Given the description of an element on the screen output the (x, y) to click on. 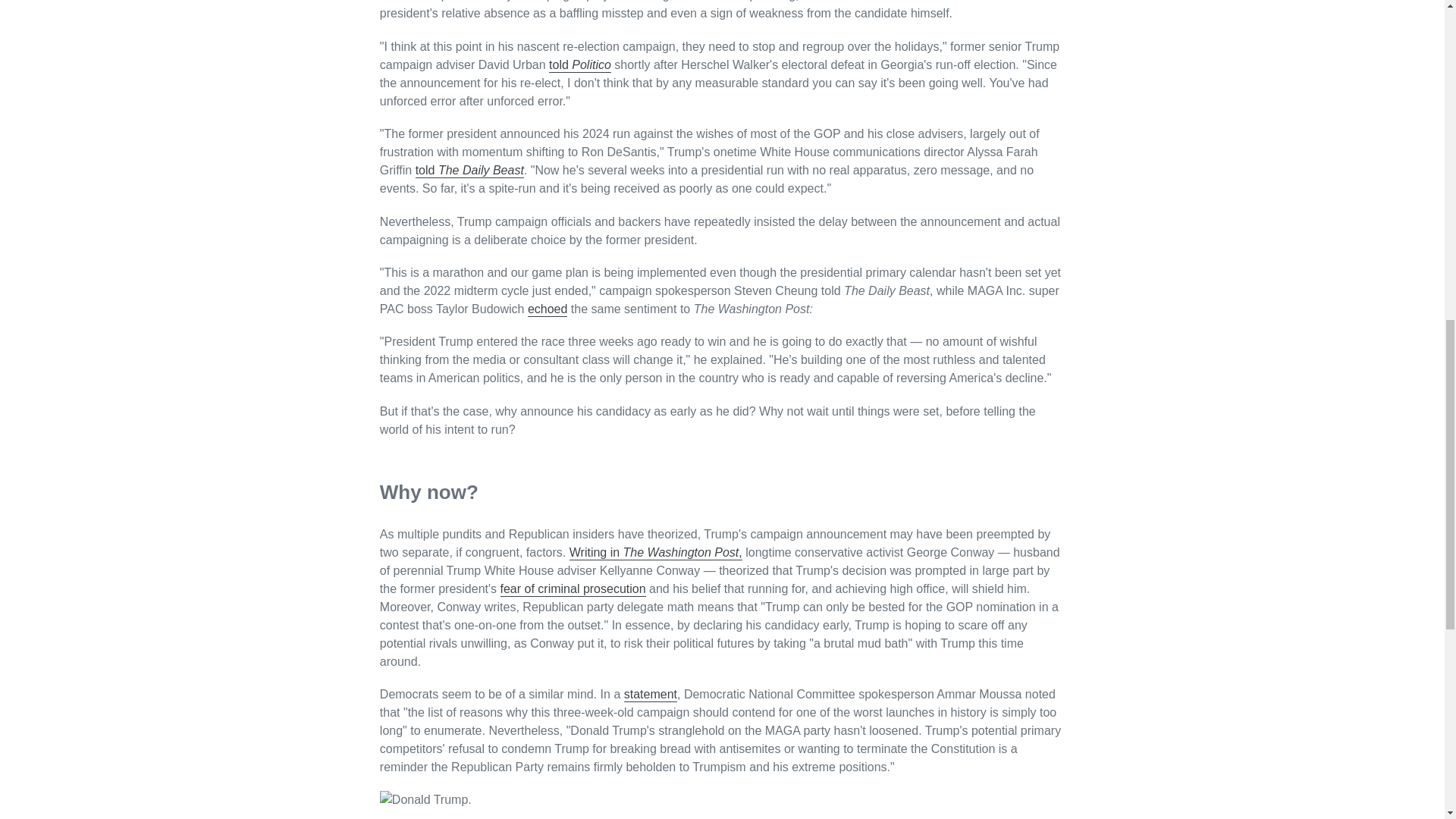
told Politico (579, 65)
echoed (547, 309)
fear of criminal prosecution (573, 589)
told The Daily Beast (469, 170)
Writing in The Washington Post, (655, 553)
